Given the description of an element on the screen output the (x, y) to click on. 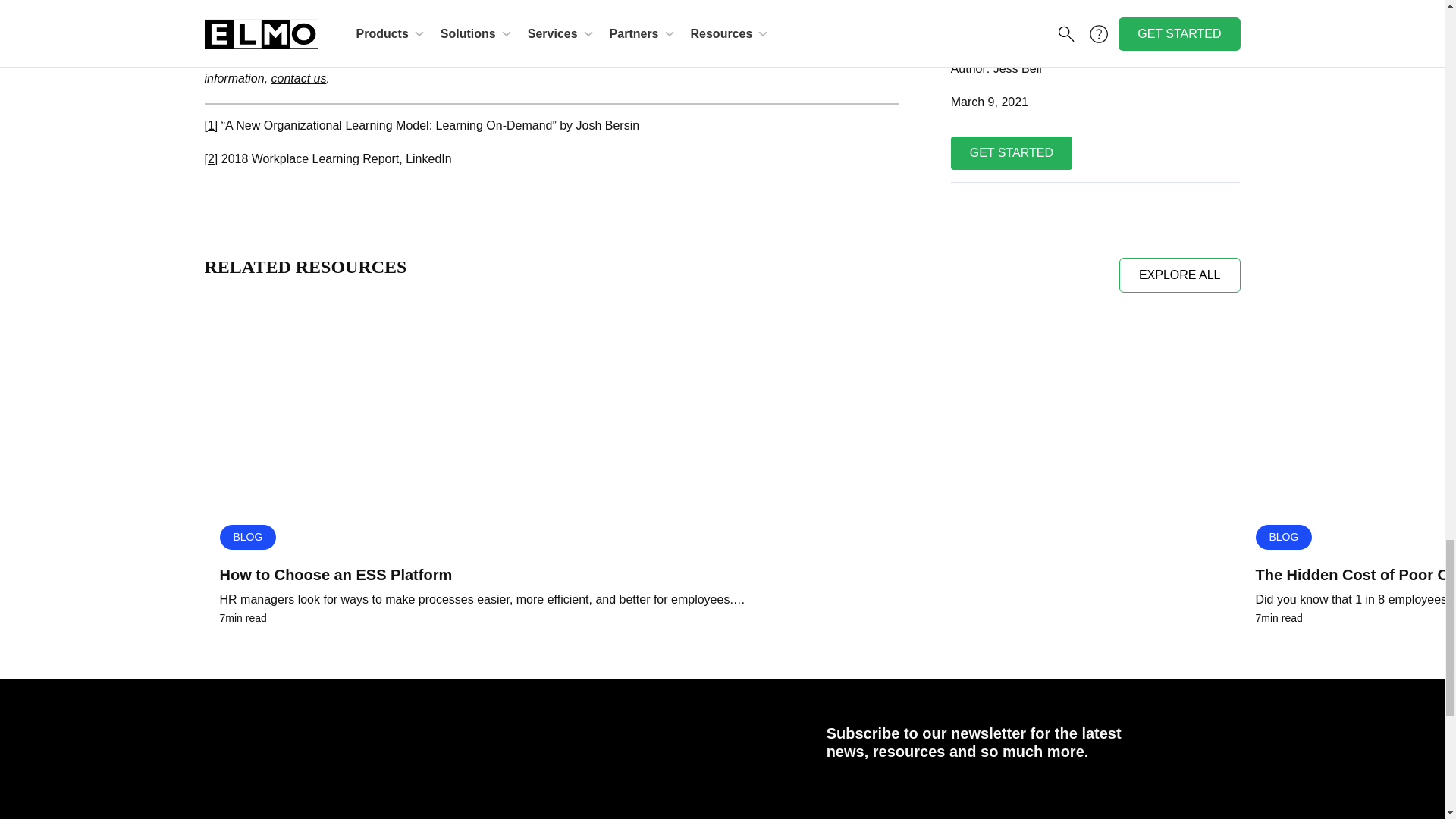
How to Choose an ESS Platform (722, 573)
How to Choose an ESS Platform (722, 413)
